Given the description of an element on the screen output the (x, y) to click on. 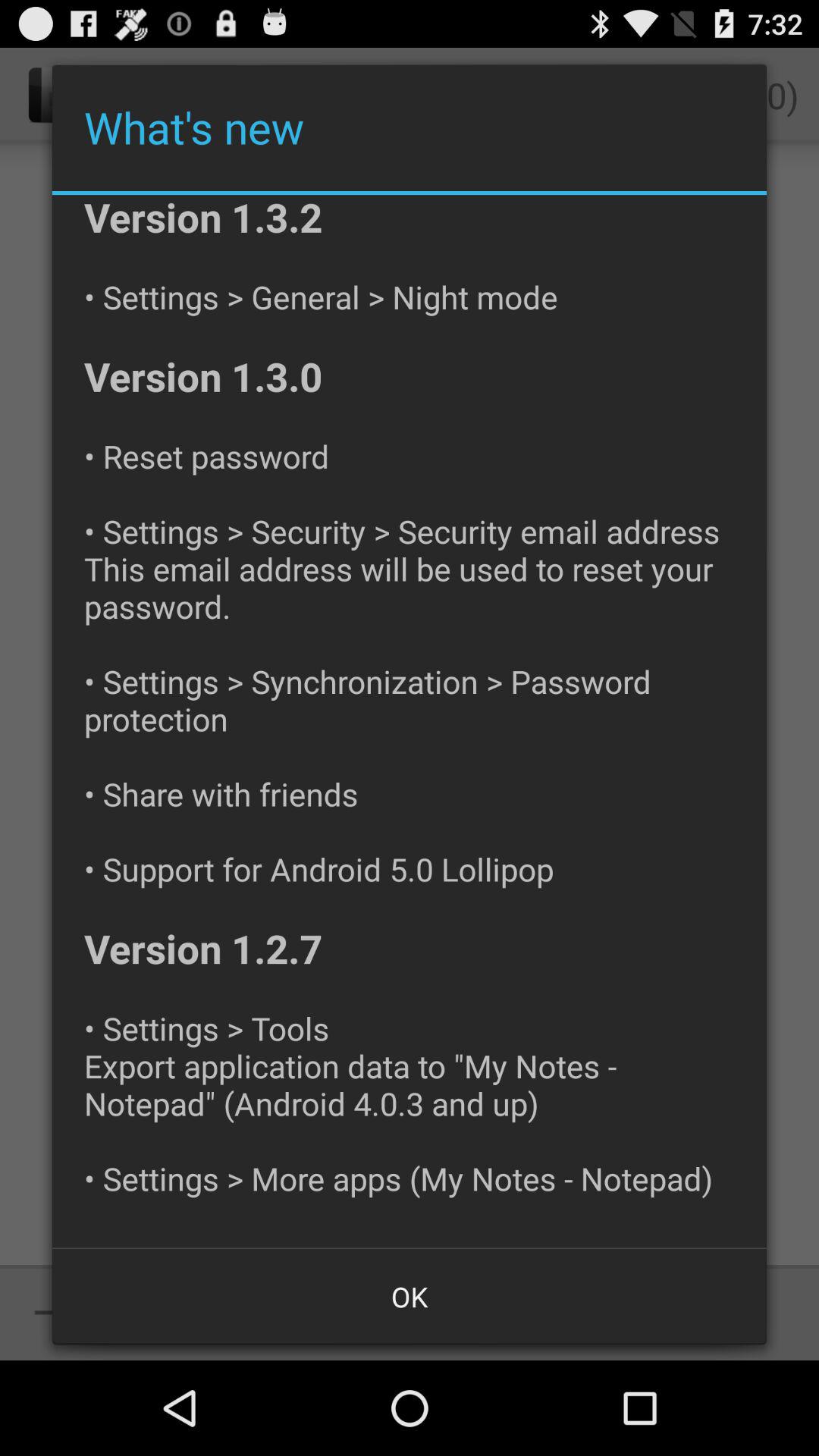
click the ok icon (409, 1296)
